Given the description of an element on the screen output the (x, y) to click on. 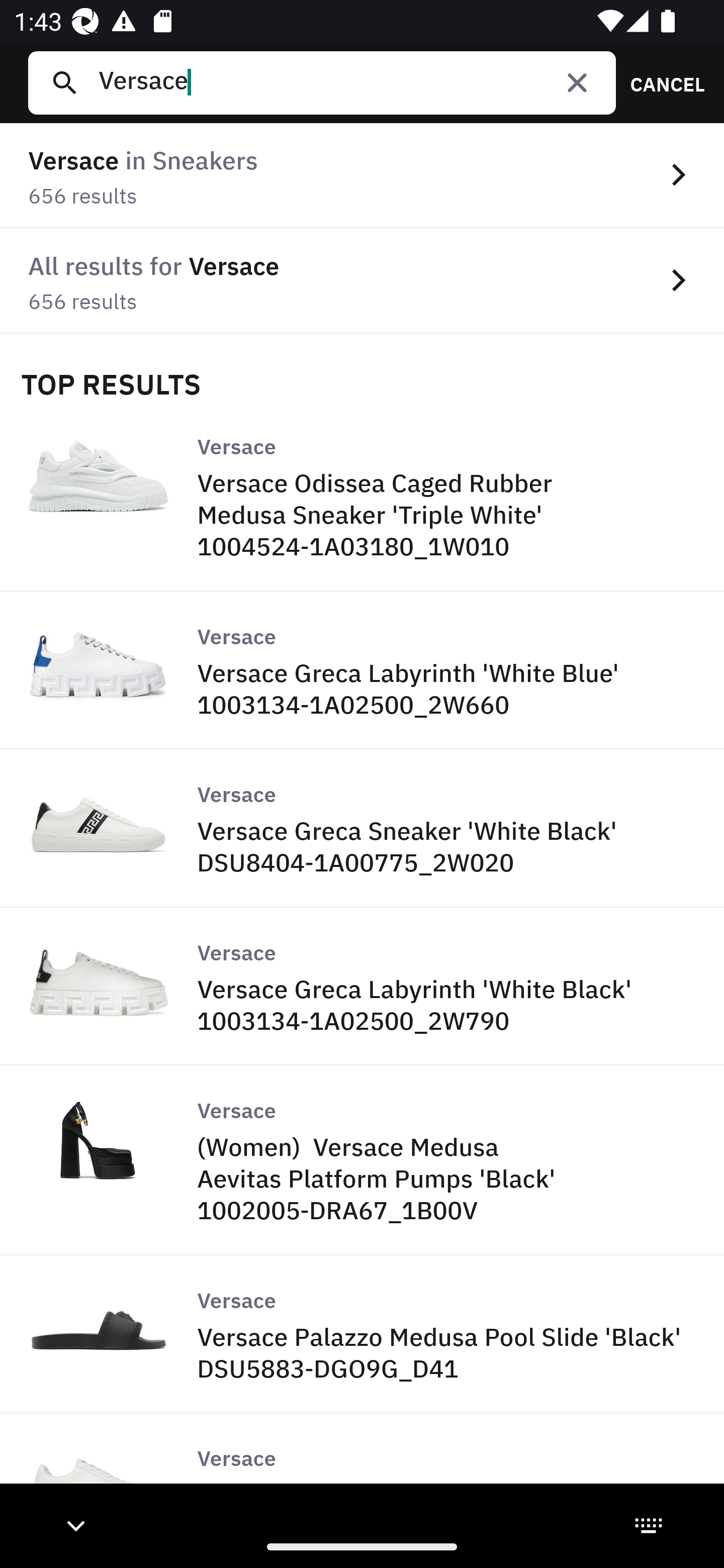
CANCEL (660, 82)
Versace (349, 82)
 (577, 82)
Versace  in Sneakers 656 results  (362, 175)
All results for  Versace 656 results  (362, 280)
